Given the description of an element on the screen output the (x, y) to click on. 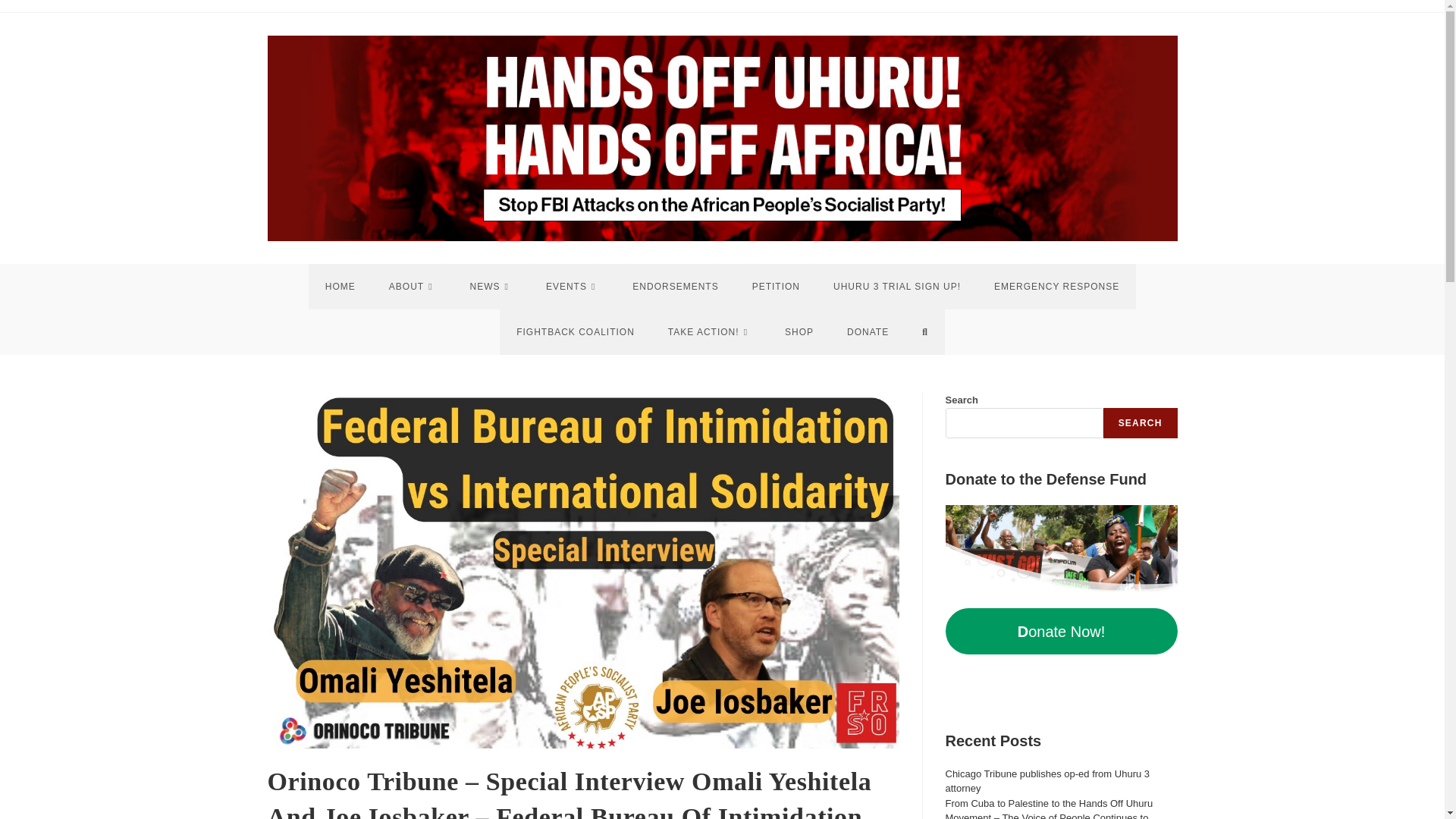
NEWS (490, 286)
ABOUT (412, 286)
ENDORSEMENTS (675, 286)
FIGHTBACK COALITION (574, 331)
PETITION (775, 286)
EMERGENCY RESPONSE (1055, 286)
UHURU 3 TRIAL SIGN UP! (896, 286)
EVENTS (572, 286)
TAKE ACTION! (709, 331)
HOME (340, 286)
